Given the description of an element on the screen output the (x, y) to click on. 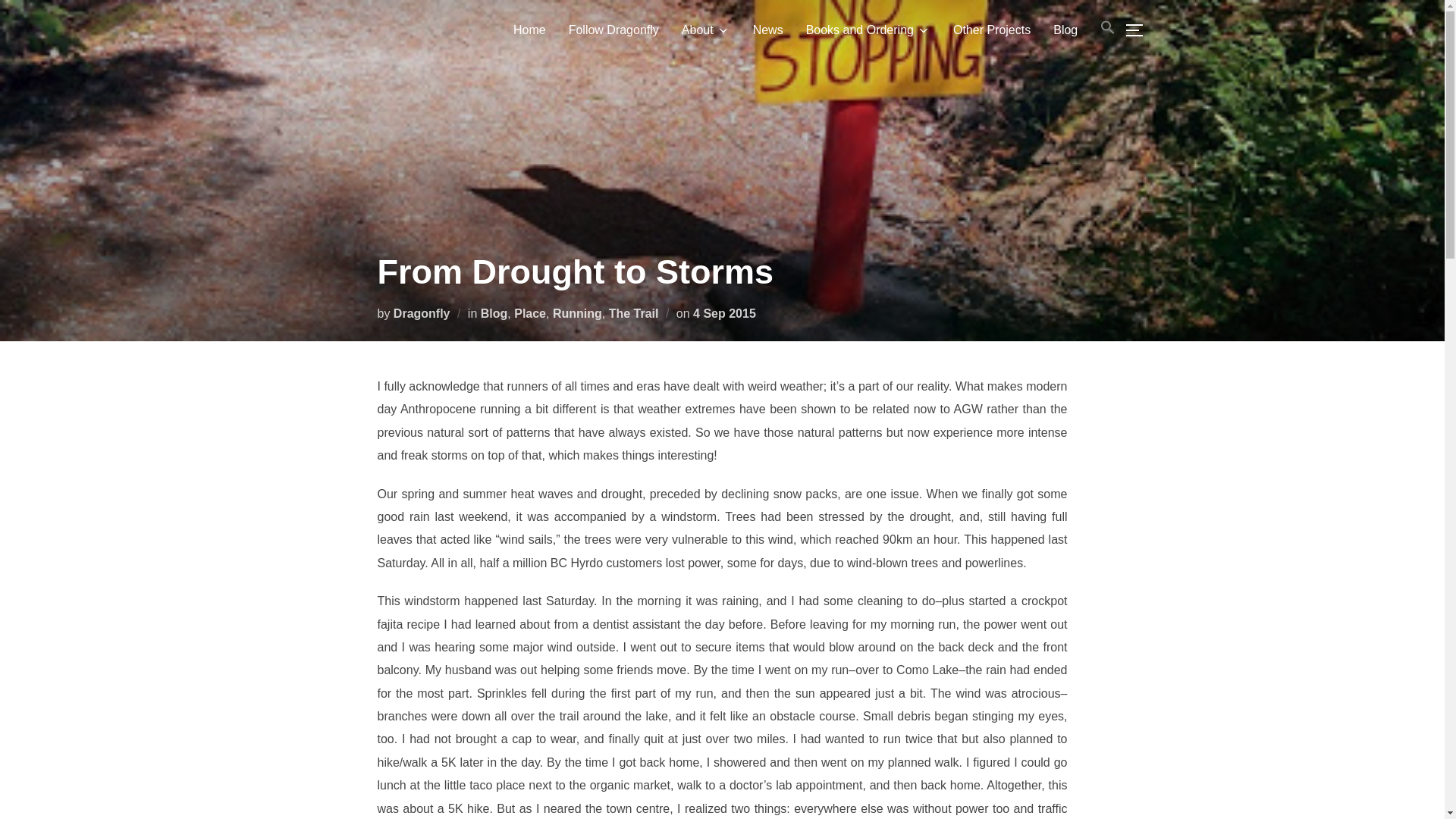
News (767, 30)
Follow Dragonfly (614, 30)
Dragonfly (421, 312)
About (705, 30)
4 Sep 2015 (724, 312)
Place (529, 312)
Home (529, 30)
The Trail (633, 312)
Blog (494, 312)
Running (577, 312)
